Given the description of an element on the screen output the (x, y) to click on. 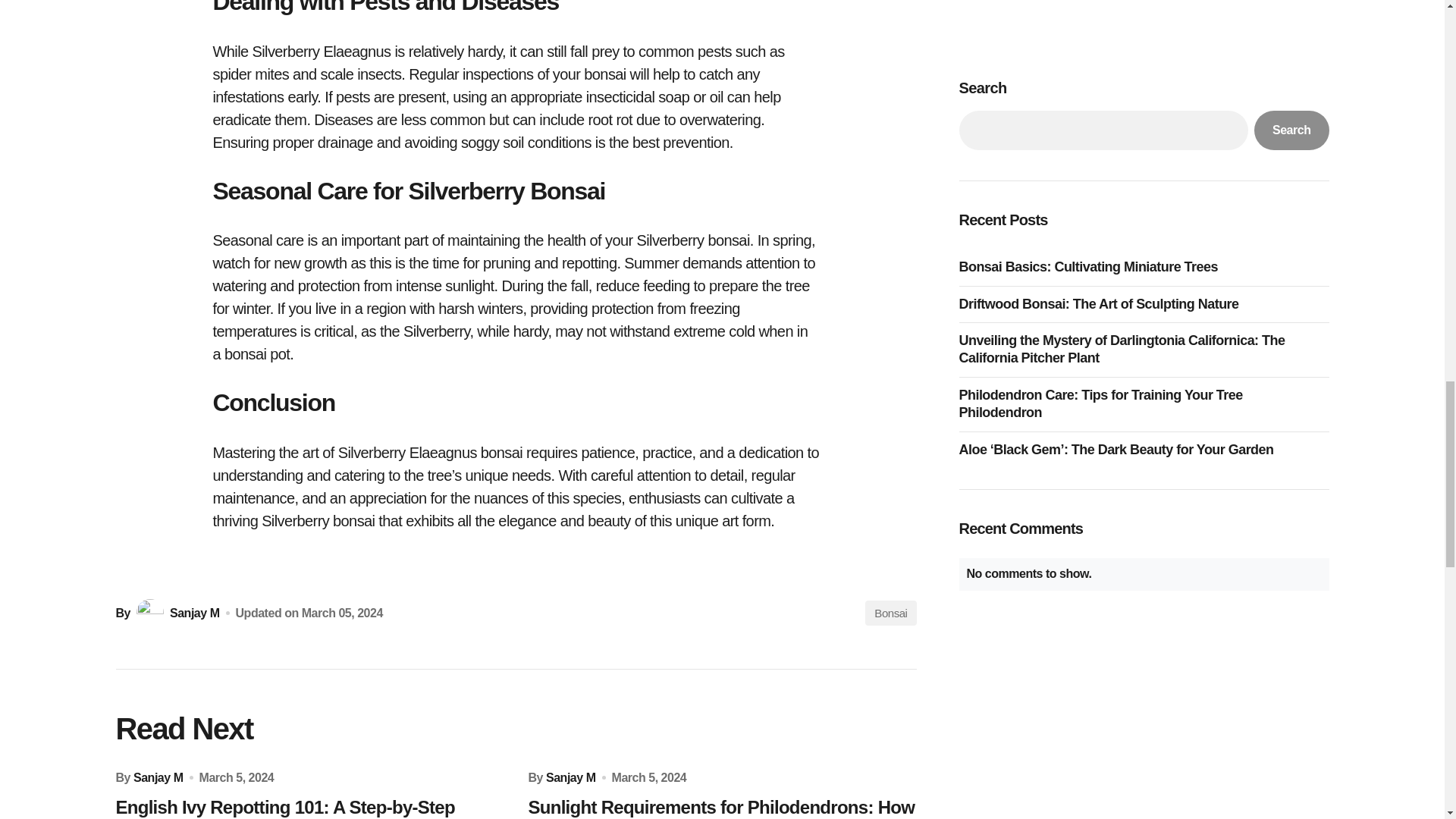
Sanjay M (158, 777)
Bonsai (889, 612)
Sanjay M (176, 612)
English Ivy Repotting 101: A Step-by-Step Guide (309, 807)
Sanjay M (570, 777)
